Given the description of an element on the screen output the (x, y) to click on. 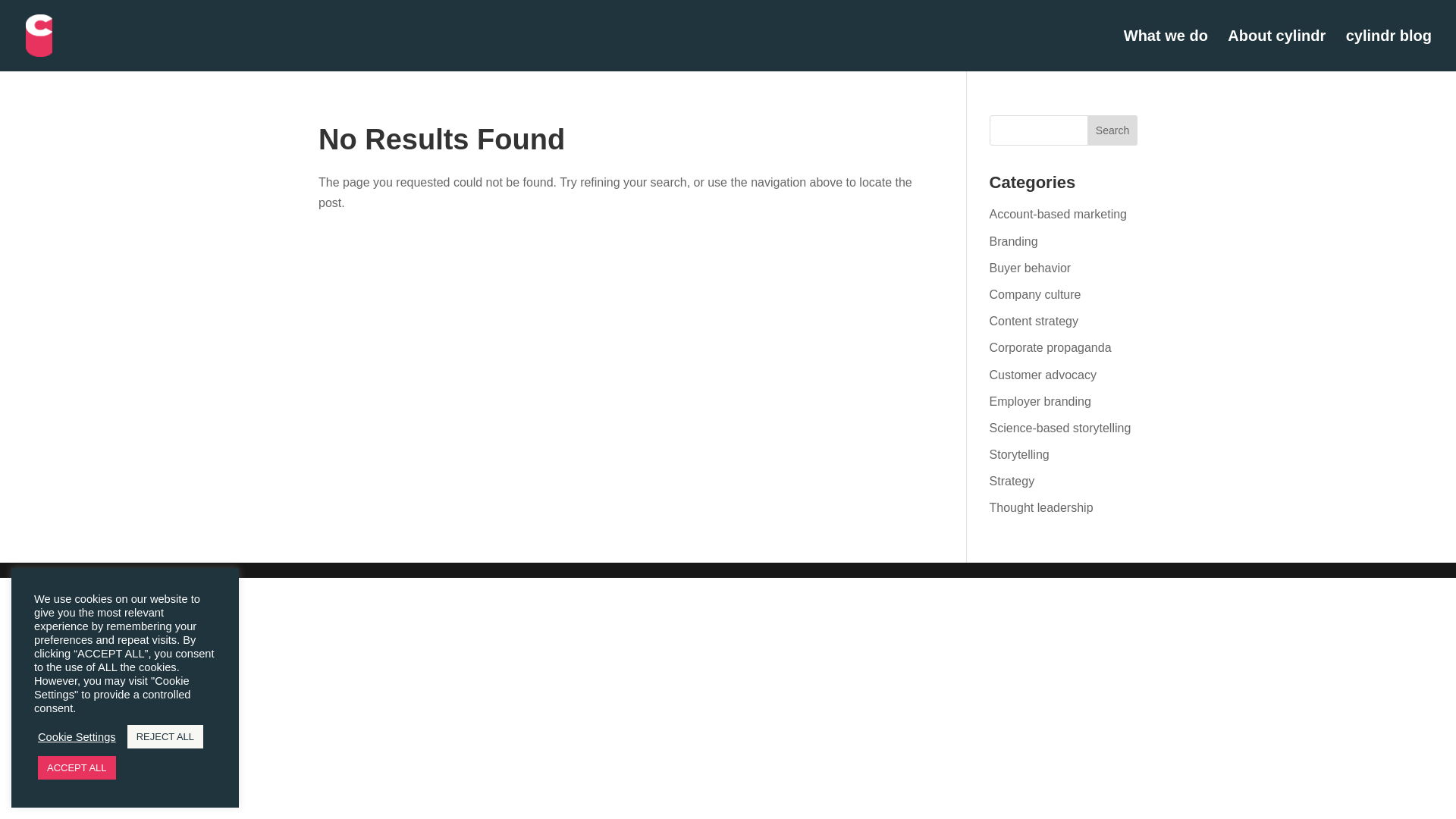
Strategy (1012, 481)
Search (1112, 130)
Customer advocacy (1043, 374)
Science-based storytelling (1060, 427)
Account-based marketing (1058, 214)
Buyer behavior (1030, 267)
Content strategy (1034, 320)
Company culture (1035, 294)
Employer branding (1040, 400)
Corporate propaganda (1051, 347)
